Given the description of an element on the screen output the (x, y) to click on. 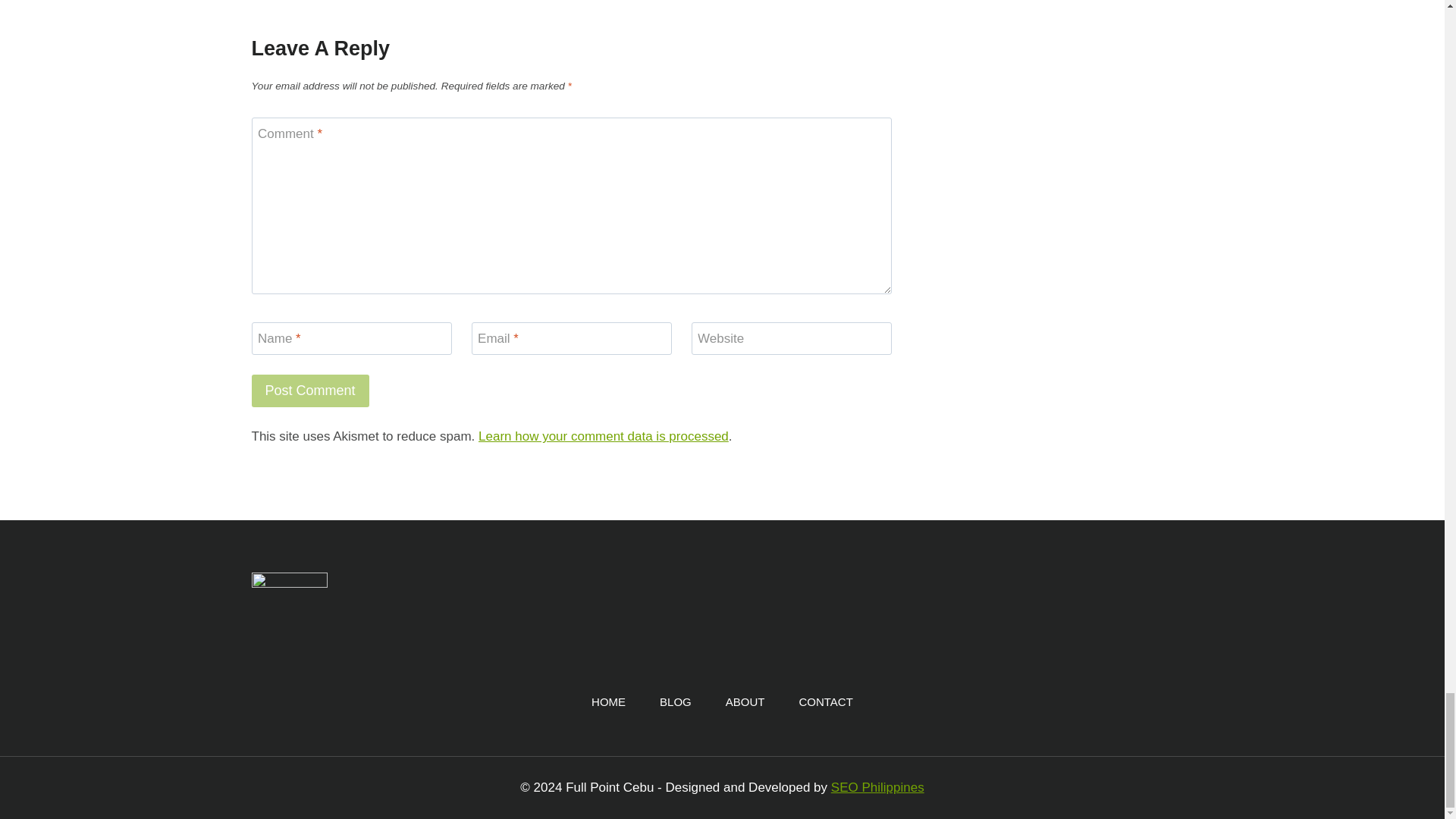
Post Comment (310, 390)
